Given the description of an element on the screen output the (x, y) to click on. 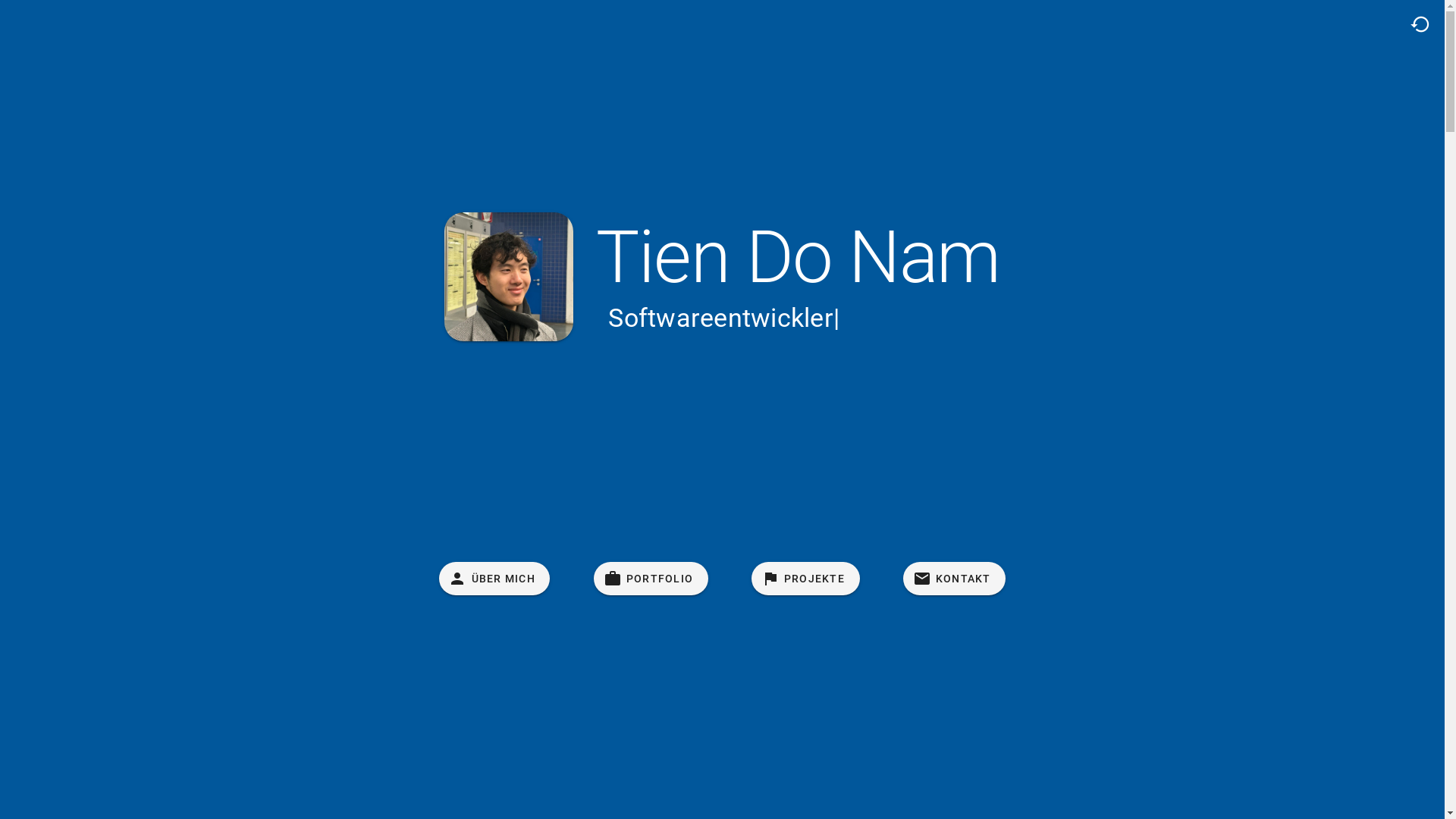
PROJEKTE Element type: text (805, 578)
PORTFOLIO Element type: text (650, 578)
KONTAKT Element type: text (954, 578)
